Given the description of an element on the screen output the (x, y) to click on. 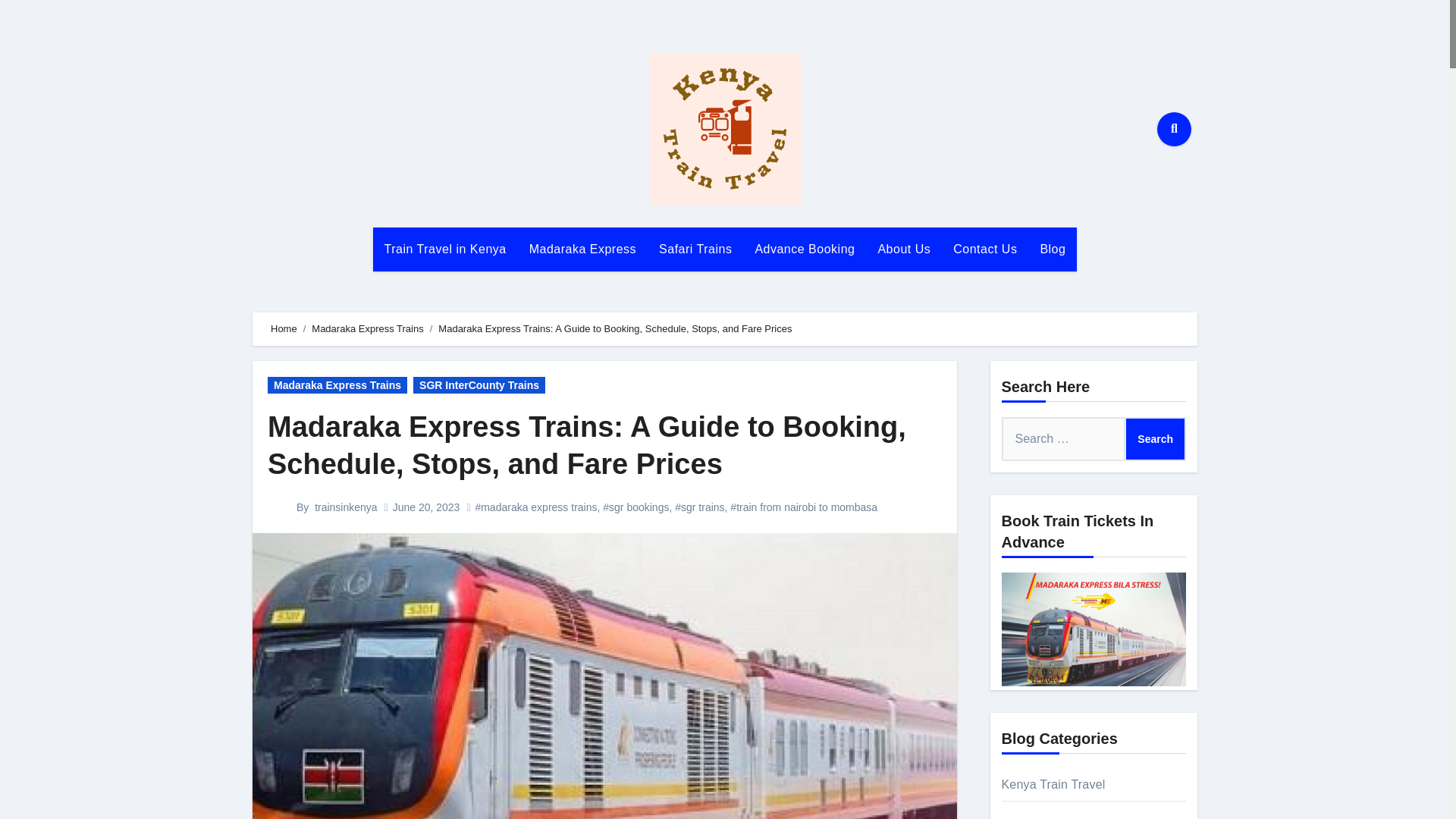
Train Travel in Kenya (445, 249)
Search (1155, 438)
Contact Us (984, 249)
SGR InterCounty Trains (478, 384)
Search (1155, 438)
Advance Booking (804, 249)
About Us (904, 249)
Safari Trains (694, 249)
Madaraka Express Trains (337, 384)
